Given the description of an element on the screen output the (x, y) to click on. 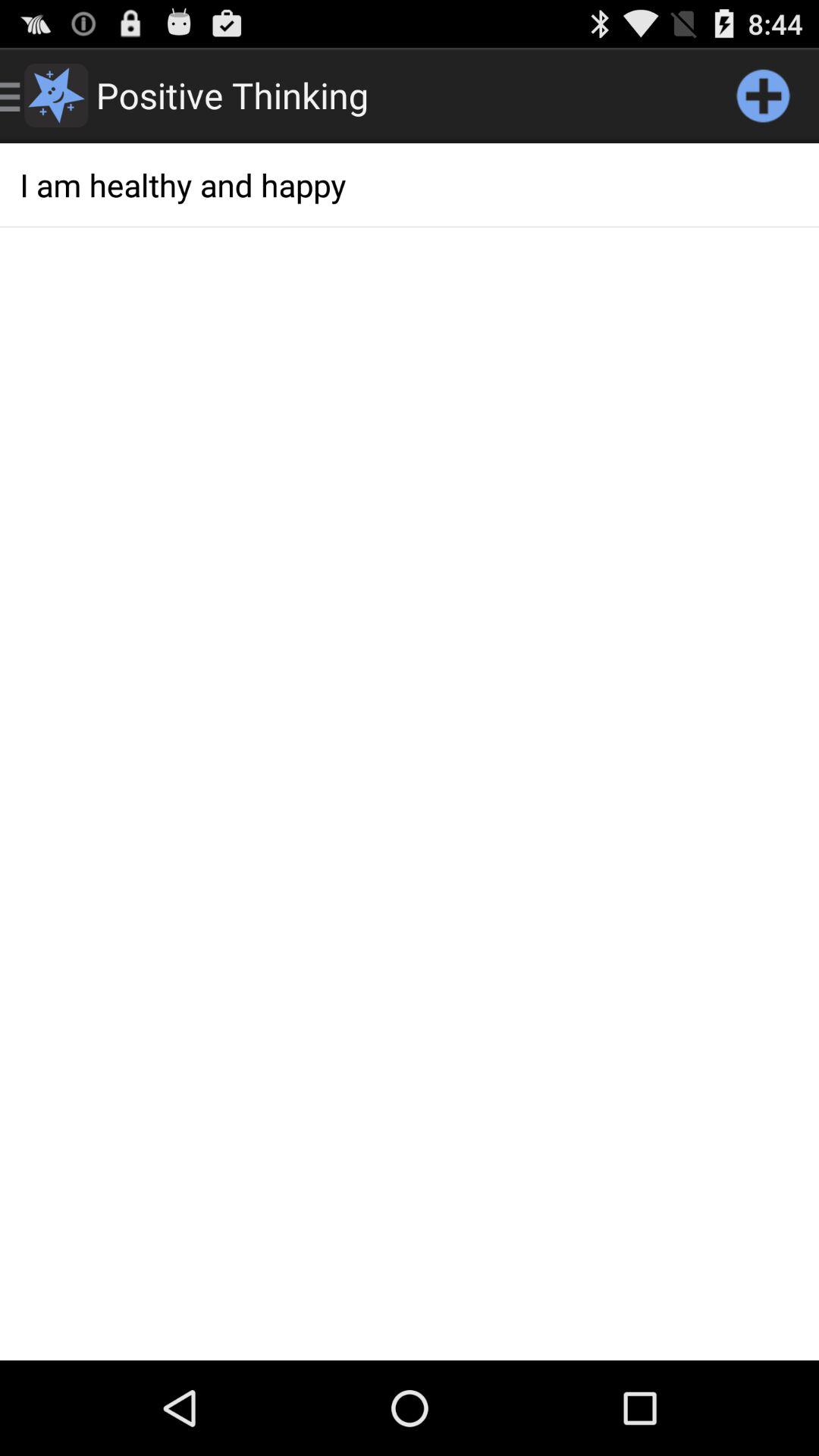
add to list (763, 95)
